Given the description of an element on the screen output the (x, y) to click on. 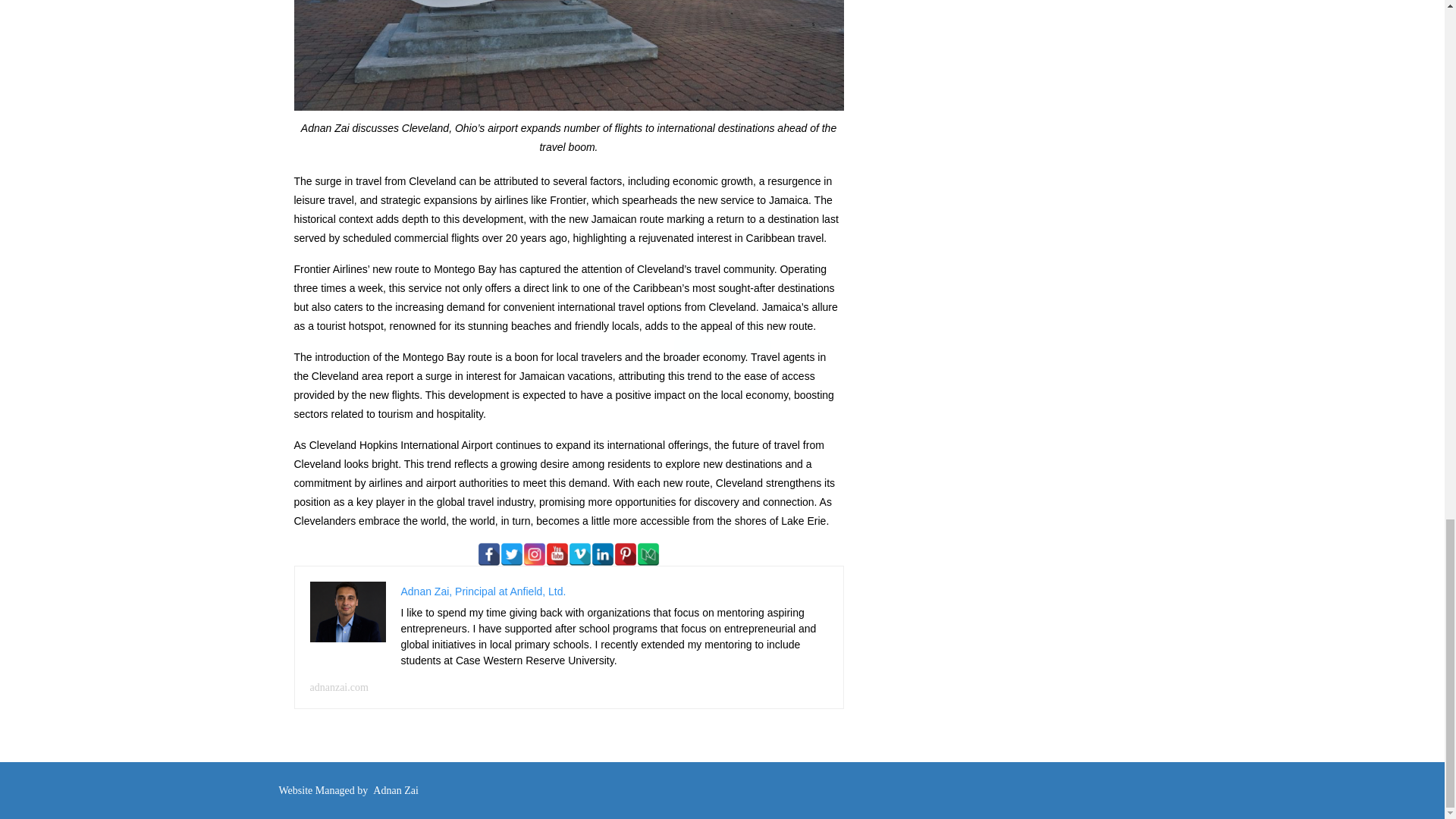
Instagram (534, 553)
Medium (648, 553)
Facebook (488, 553)
Twitter (511, 553)
LinkedIn (602, 553)
Pinterest (625, 553)
Vimeo (580, 553)
YouTube (557, 553)
